Given the description of an element on the screen output the (x, y) to click on. 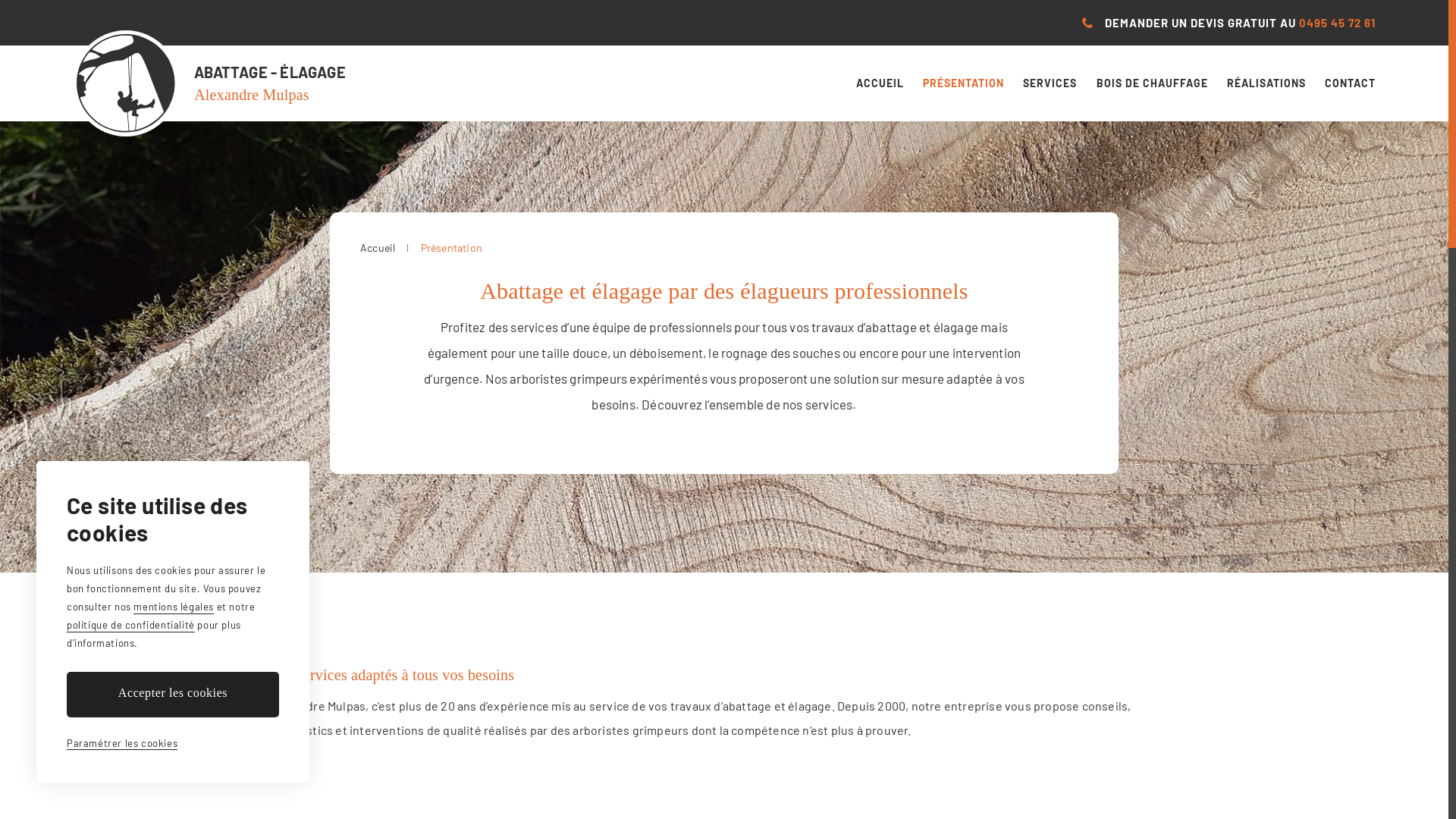
Accueil Element type: text (377, 247)
DEMANDER UN DEVIS GRATUIT AU 0495 45 72 61 Element type: text (1228, 22)
CONTACT Element type: text (1349, 83)
ACCUEIL Element type: text (879, 83)
BOIS DE CHAUFFAGE Element type: text (1152, 83)
SERVICES Element type: text (1049, 83)
